Given the description of an element on the screen output the (x, y) to click on. 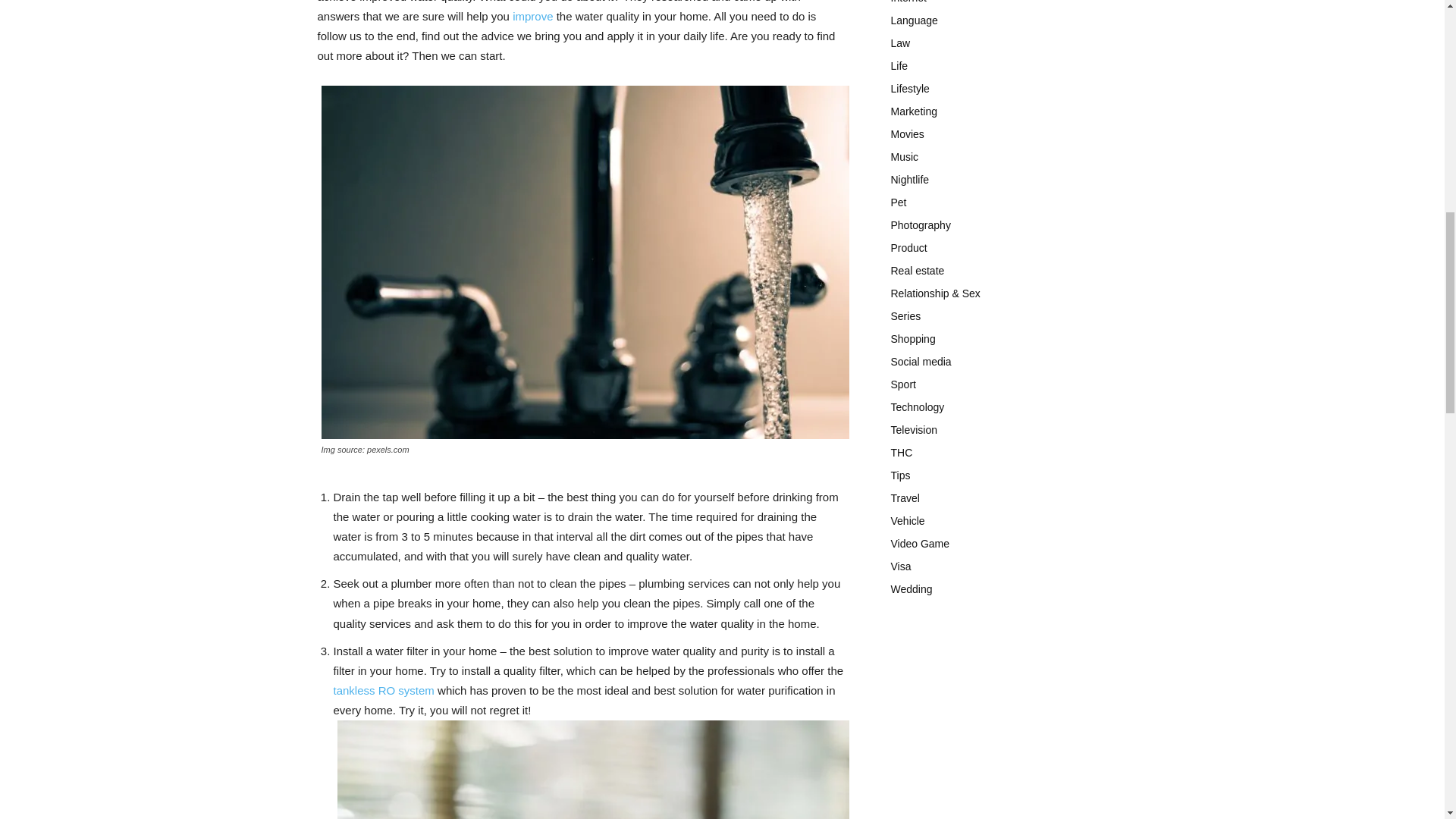
improve (532, 15)
tankless RO system (383, 689)
